Given the description of an element on the screen output the (x, y) to click on. 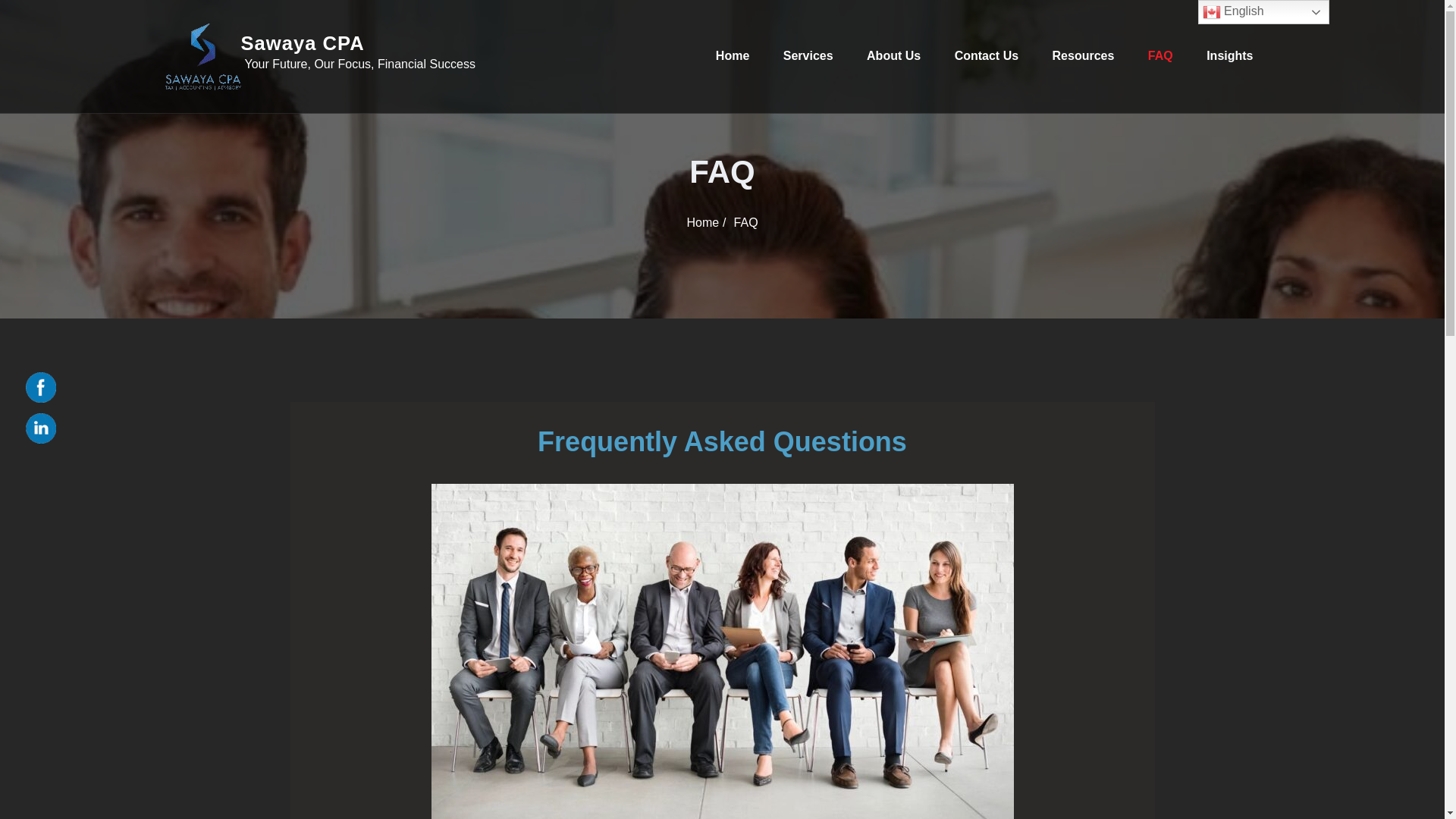
About Us (893, 55)
Insights (1229, 55)
Sawaya CPA (358, 43)
Services (807, 55)
Home (732, 55)
Home (702, 222)
Contact Us (986, 55)
Resources (1083, 55)
FAQ (1160, 55)
FAQ (745, 222)
